Given the description of an element on the screen output the (x, y) to click on. 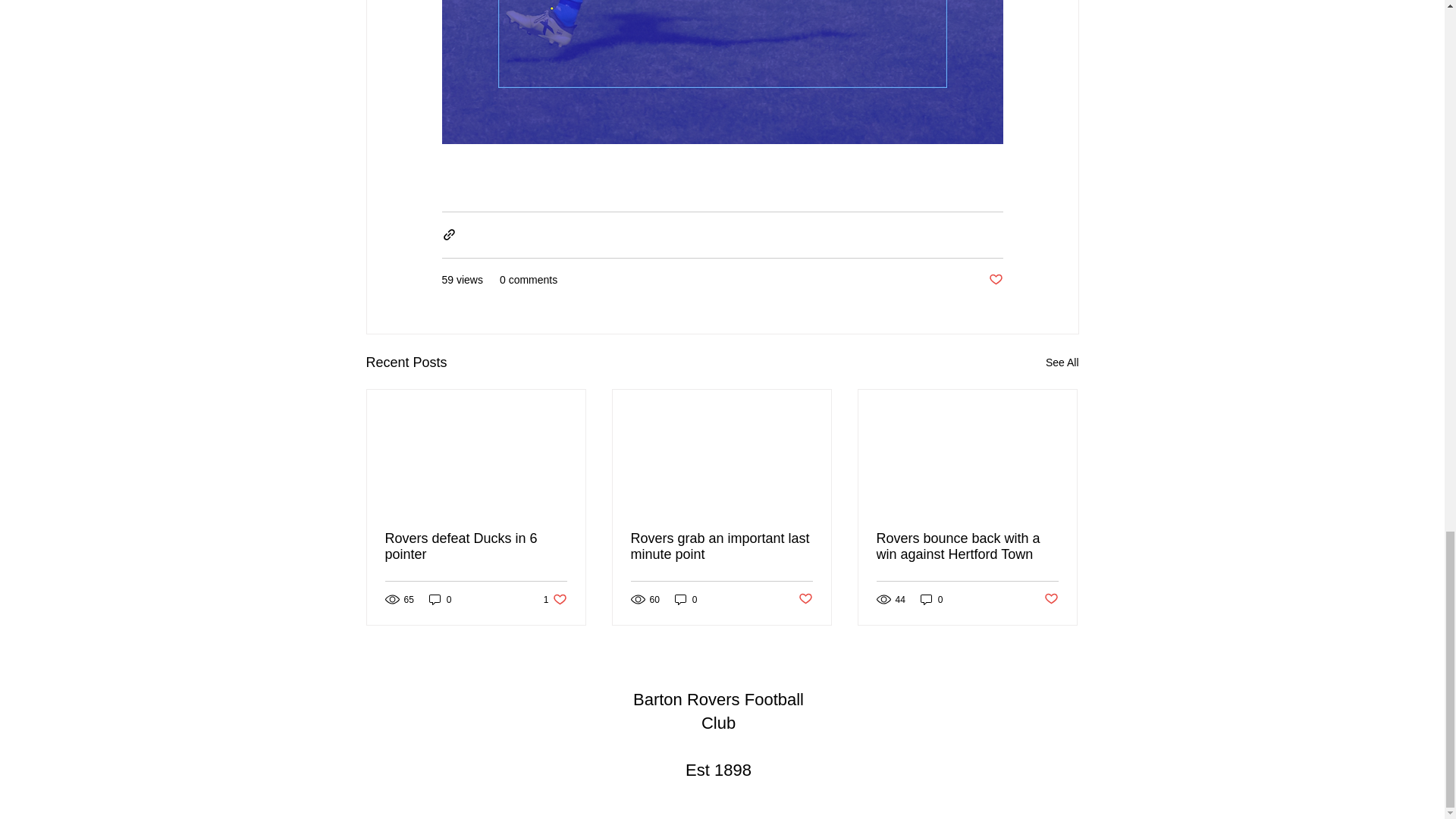
Post not marked as liked (995, 279)
Rovers grab an important last minute point (721, 546)
Post not marked as liked (804, 599)
0 (555, 599)
Rovers defeat Ducks in 6 pointer (685, 599)
0 (476, 546)
See All (931, 599)
0 (1061, 362)
Rovers bounce back with a win against Hertford Town (440, 599)
